Given the description of an element on the screen output the (x, y) to click on. 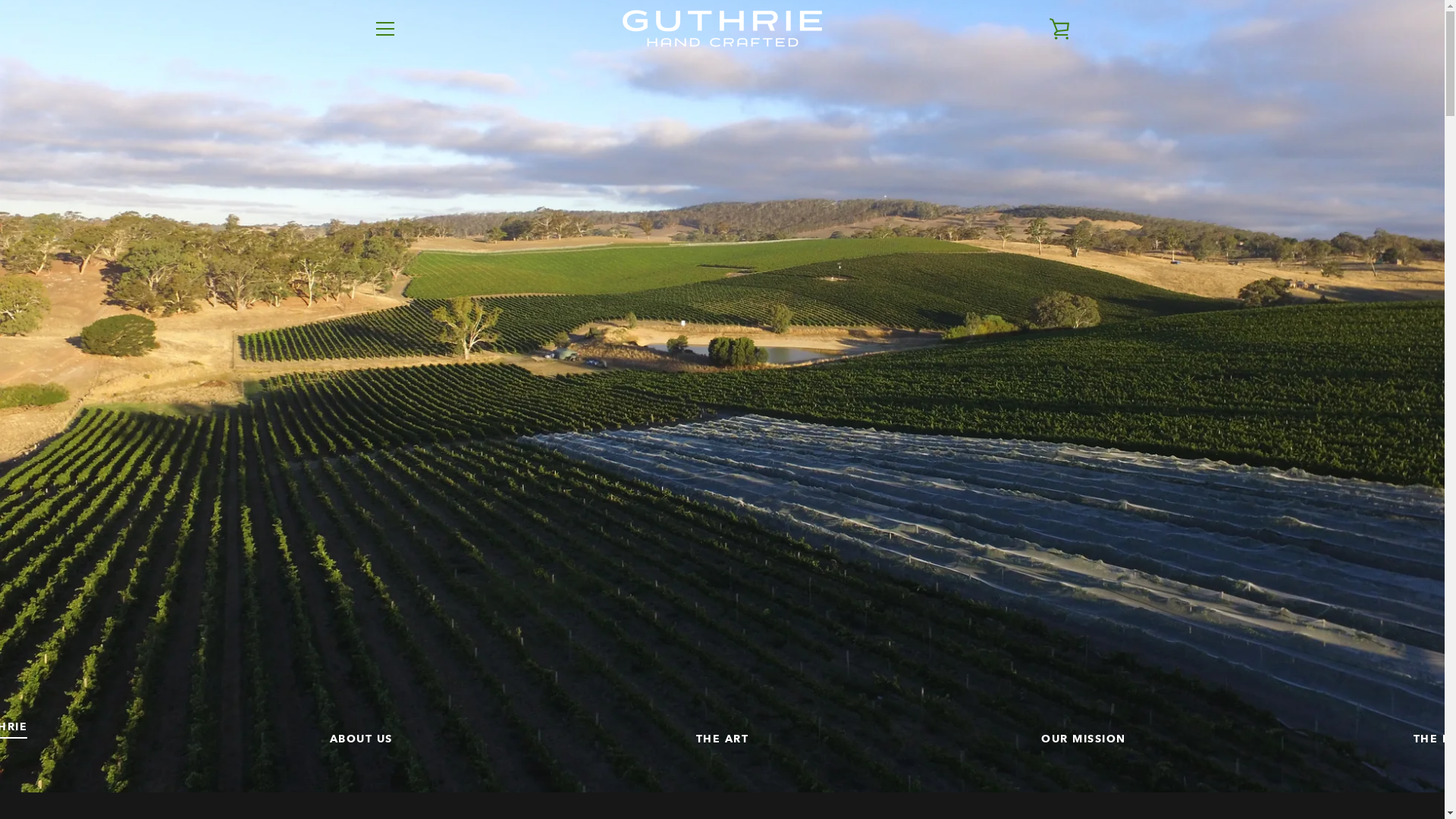
SEARCH Element type: text (393, 609)
SLIDE 2
ABOUT US Element type: text (361, 738)
SLIDE 4
OUR MISSION Element type: text (1083, 738)
VIEW CART Element type: text (1059, 28)
Powered by Shopify Element type: text (765, 766)
MENU Element type: text (384, 28)
SUBSCRIBE Element type: text (1031, 679)
SLIDE 3
THE ART Element type: text (722, 738)
Instagram Element type: text (398, 765)
Guthrie Wines Element type: text (735, 756)
Skip to content Element type: text (0, 0)
Twitter Element type: text (372, 765)
